Given the description of an element on the screen output the (x, y) to click on. 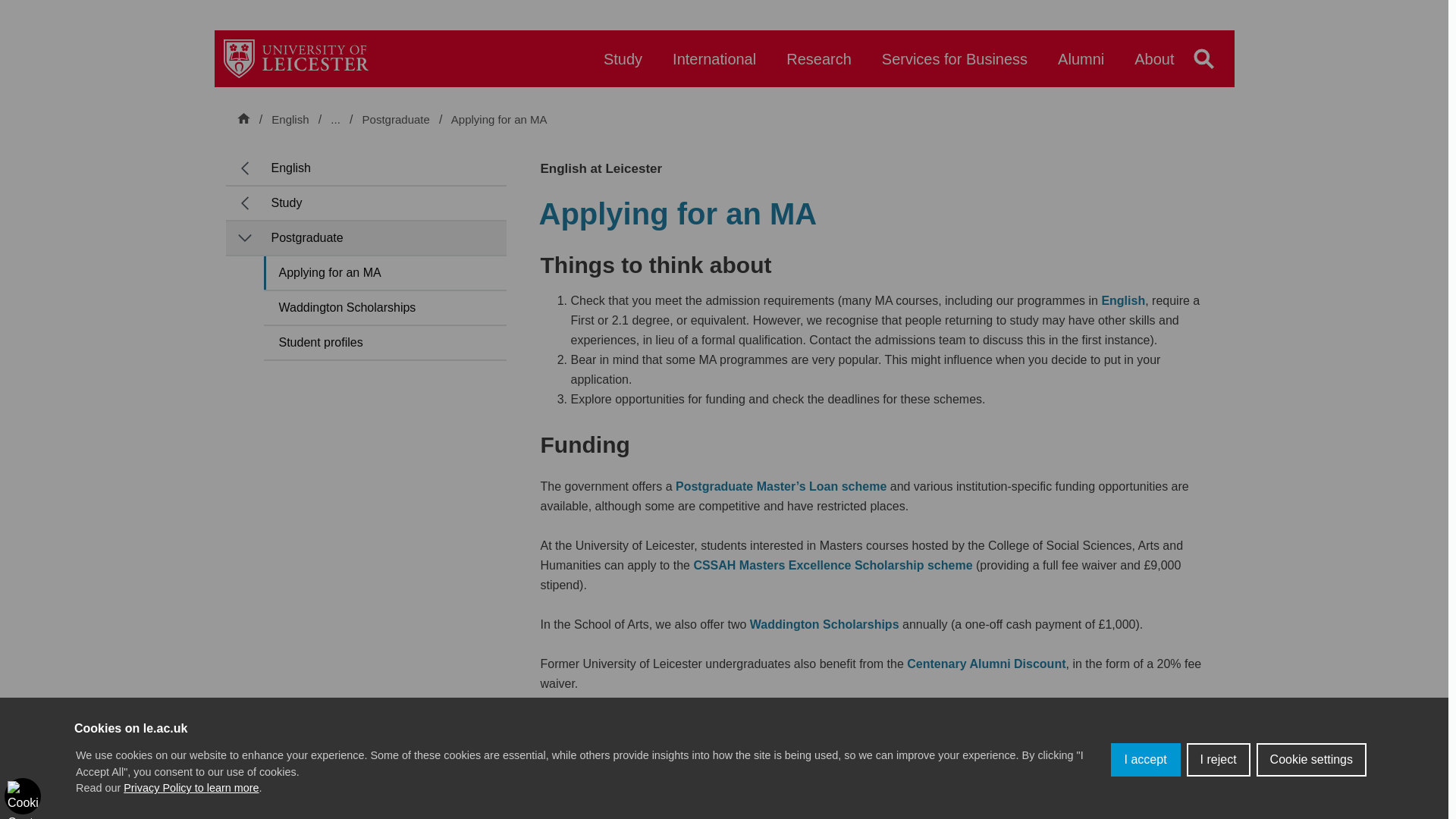
Postgraduate (397, 119)
Applying for an MA (499, 119)
English (289, 119)
Privacy Policy to learn more (191, 787)
I reject (1218, 759)
Return to homepage (295, 58)
Study (376, 119)
I accept (1145, 759)
Cookie settings (1311, 759)
Study (623, 65)
